Given the description of an element on the screen output the (x, y) to click on. 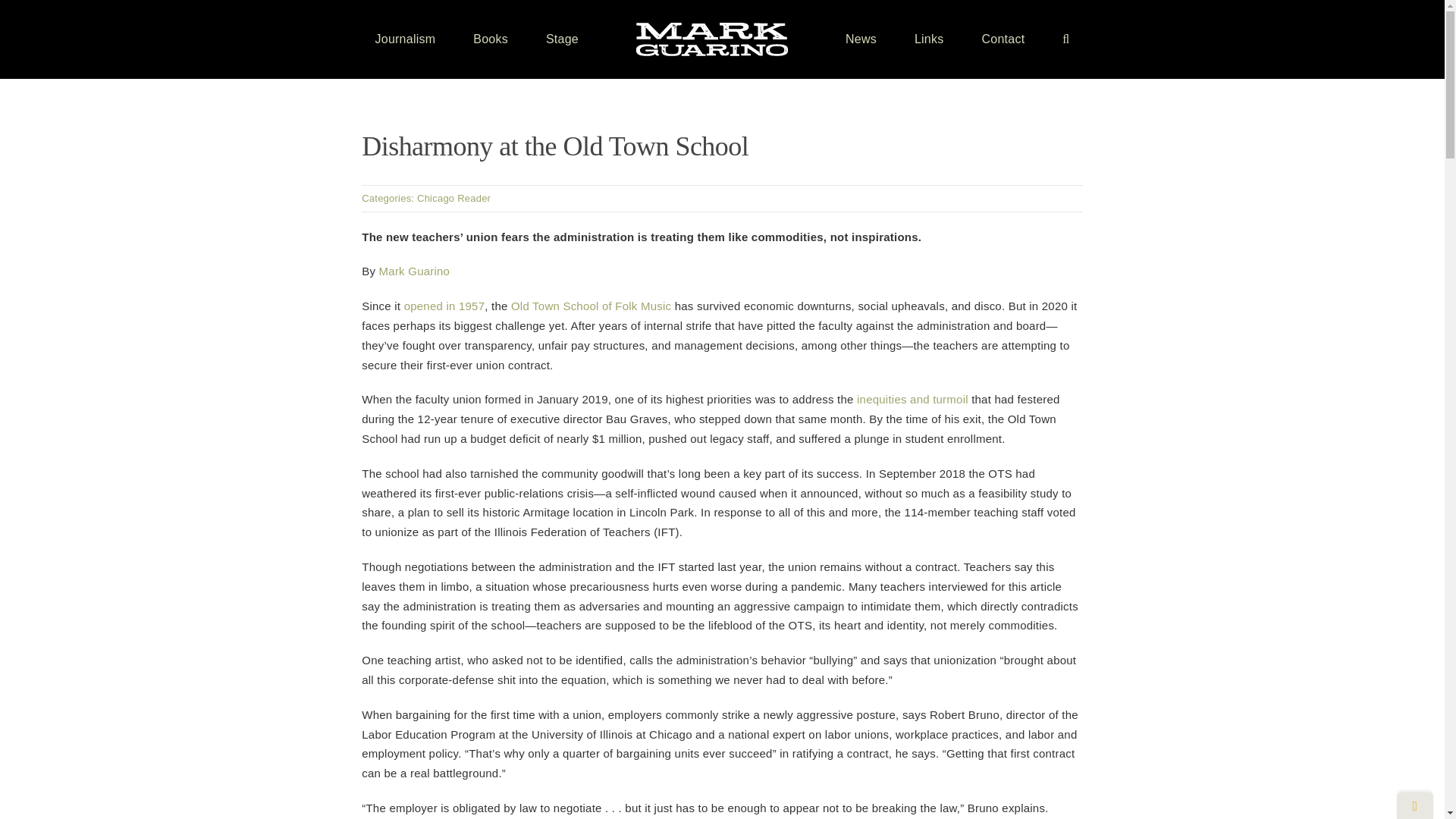
Chicago Reader (453, 197)
Mark Guarino (413, 270)
Old Town School of Folk Music (591, 305)
News (860, 39)
Stage (562, 39)
opened in 1957 (444, 305)
Journalism (405, 39)
Toggle Sliding Bar Area (1414, 805)
inequities and turmoil (912, 399)
Contact (1003, 39)
